Given the description of an element on the screen output the (x, y) to click on. 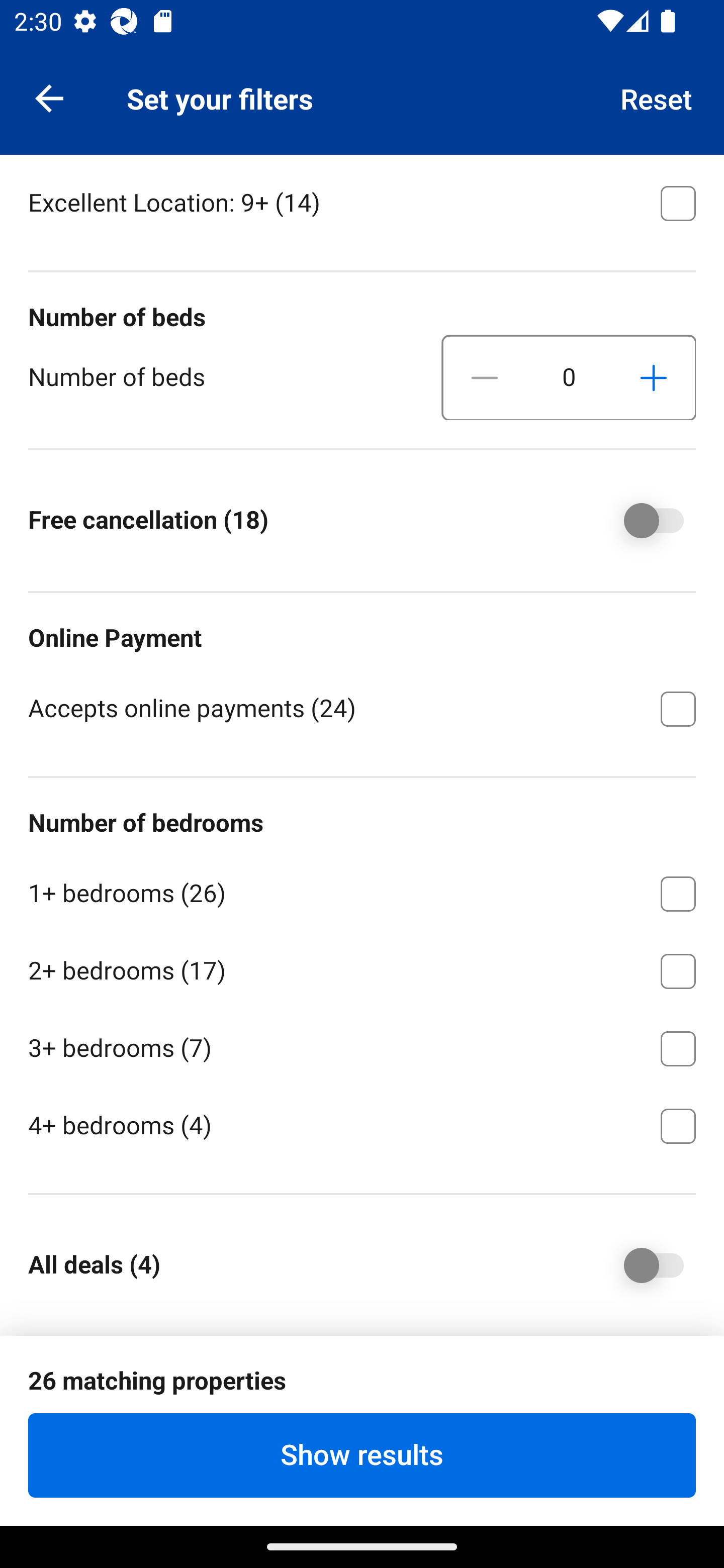
Navigate up (49, 97)
Reset (656, 97)
Excellent Location: 9+ ⁦(14) (361, 201)
Decrease (484, 377)
Increase (653, 377)
Free cancellation ⁦(18) (639, 520)
Accepts online payments ⁦(24) (361, 706)
1+ bedrooms ⁦(26) (361, 890)
2+ bedrooms ⁦(17) (361, 967)
3+ bedrooms ⁦(7) (361, 1044)
4+ bedrooms ⁦(4) (361, 1124)
All deals ⁦(4) (639, 1265)
Show results (361, 1454)
